Given the description of an element on the screen output the (x, y) to click on. 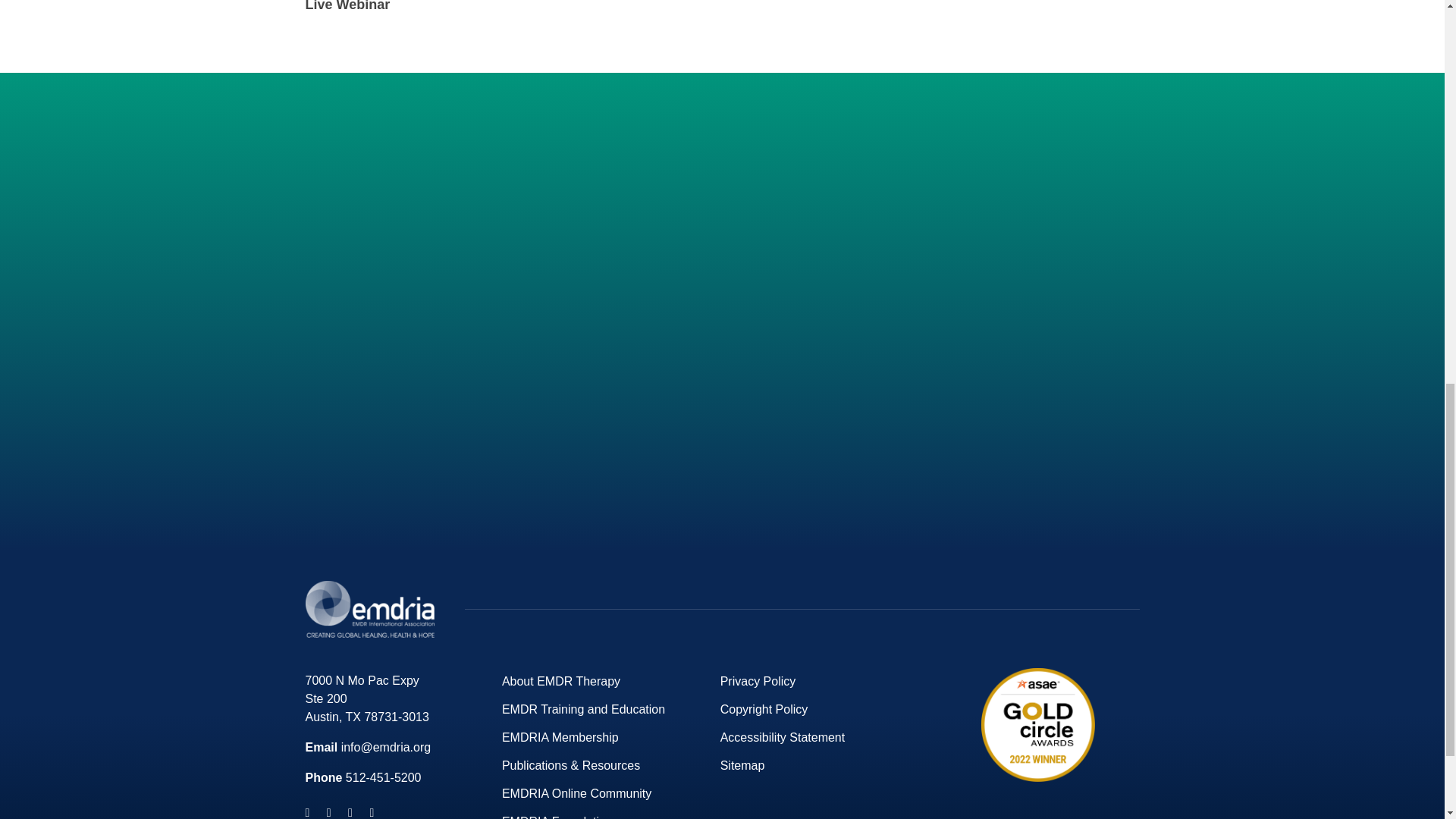
logo-emdria-grayscale-min (368, 609)
gold-circle-2022 (1037, 725)
